Given the description of an element on the screen output the (x, y) to click on. 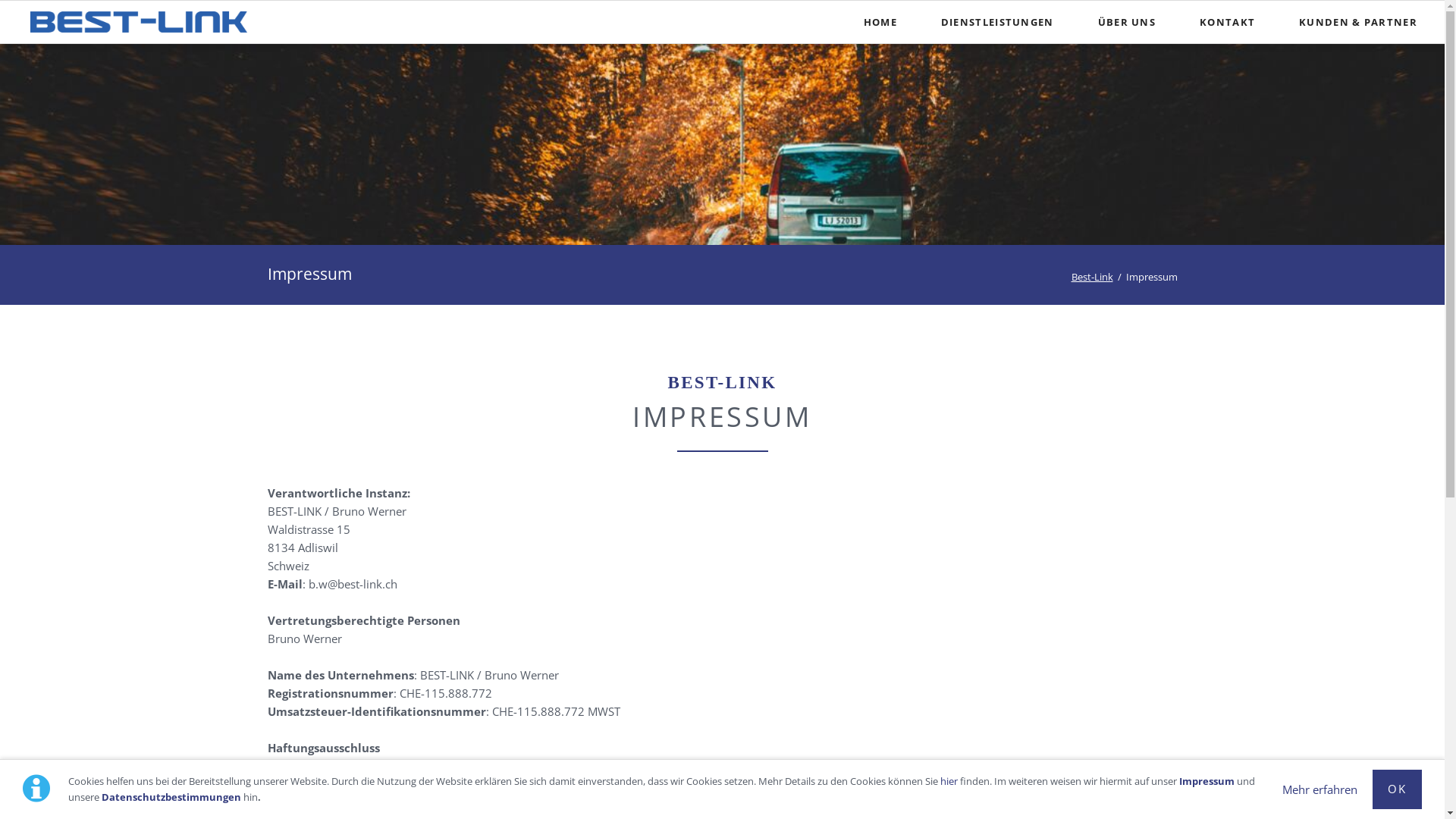
KUNDEN & PARTNER Element type: text (1357, 21)
Best-Link Element type: text (1091, 276)
hier Element type: text (948, 780)
DIENSTLEISTUNGEN Element type: text (997, 21)
Mehr erfahren Element type: text (1319, 789)
Impressum Element type: text (1206, 780)
KONTAKT Element type: text (1227, 21)
OK Element type: text (1396, 789)
Datenschutzbestimmungen Element type: text (171, 796)
HOME Element type: text (880, 21)
